Given the description of an element on the screen output the (x, y) to click on. 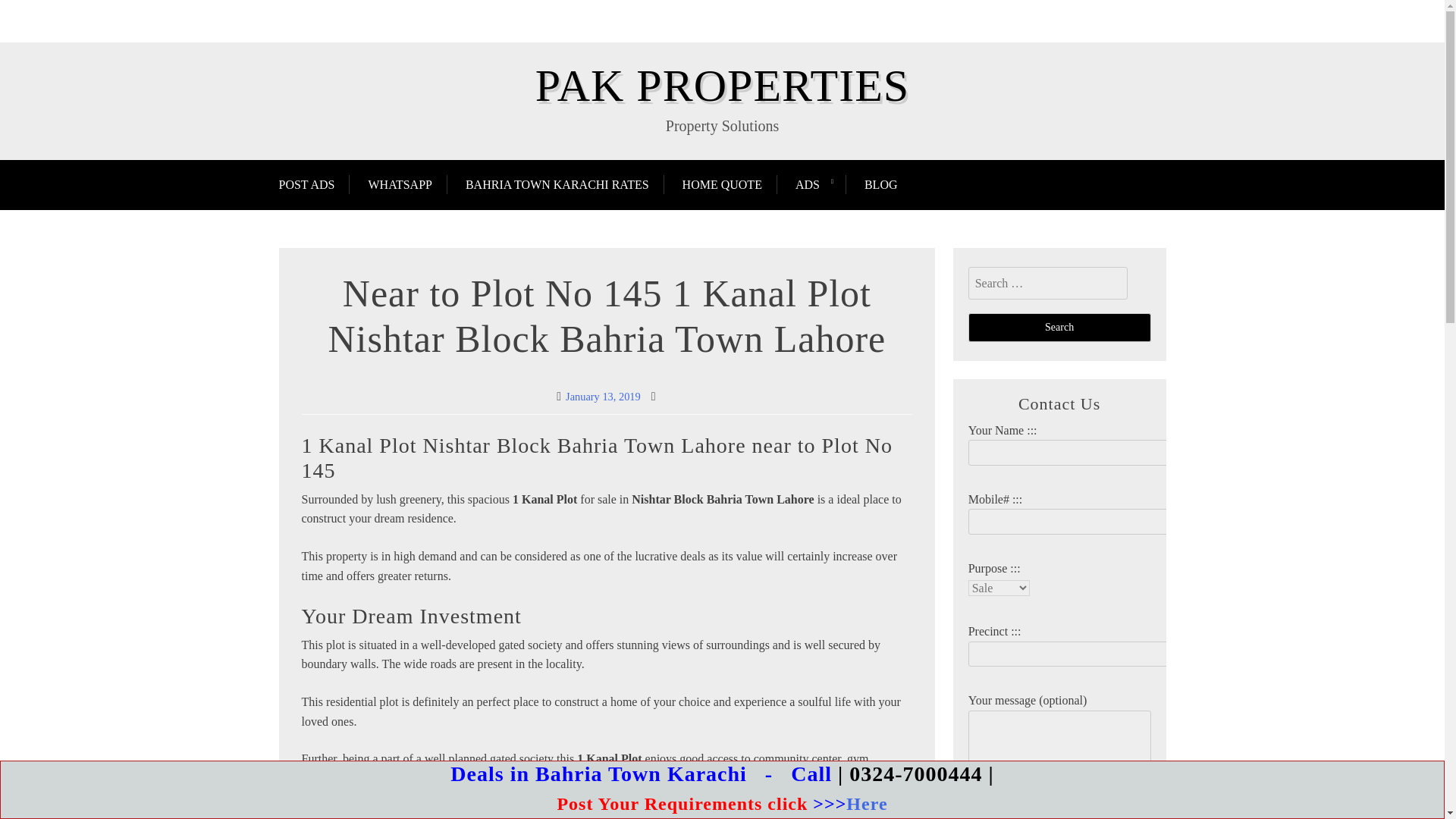
PAK PROPERTIES (721, 85)
January 13, 2019 (603, 396)
Search (1059, 327)
HOME QUOTE (721, 184)
POST ADS (314, 184)
BLOG (880, 184)
ADS (807, 184)
WHATSAPP (399, 184)
BAHRIA TOWN KARACHI RATES (556, 184)
Search (1059, 327)
Search (1059, 327)
